Given the description of an element on the screen output the (x, y) to click on. 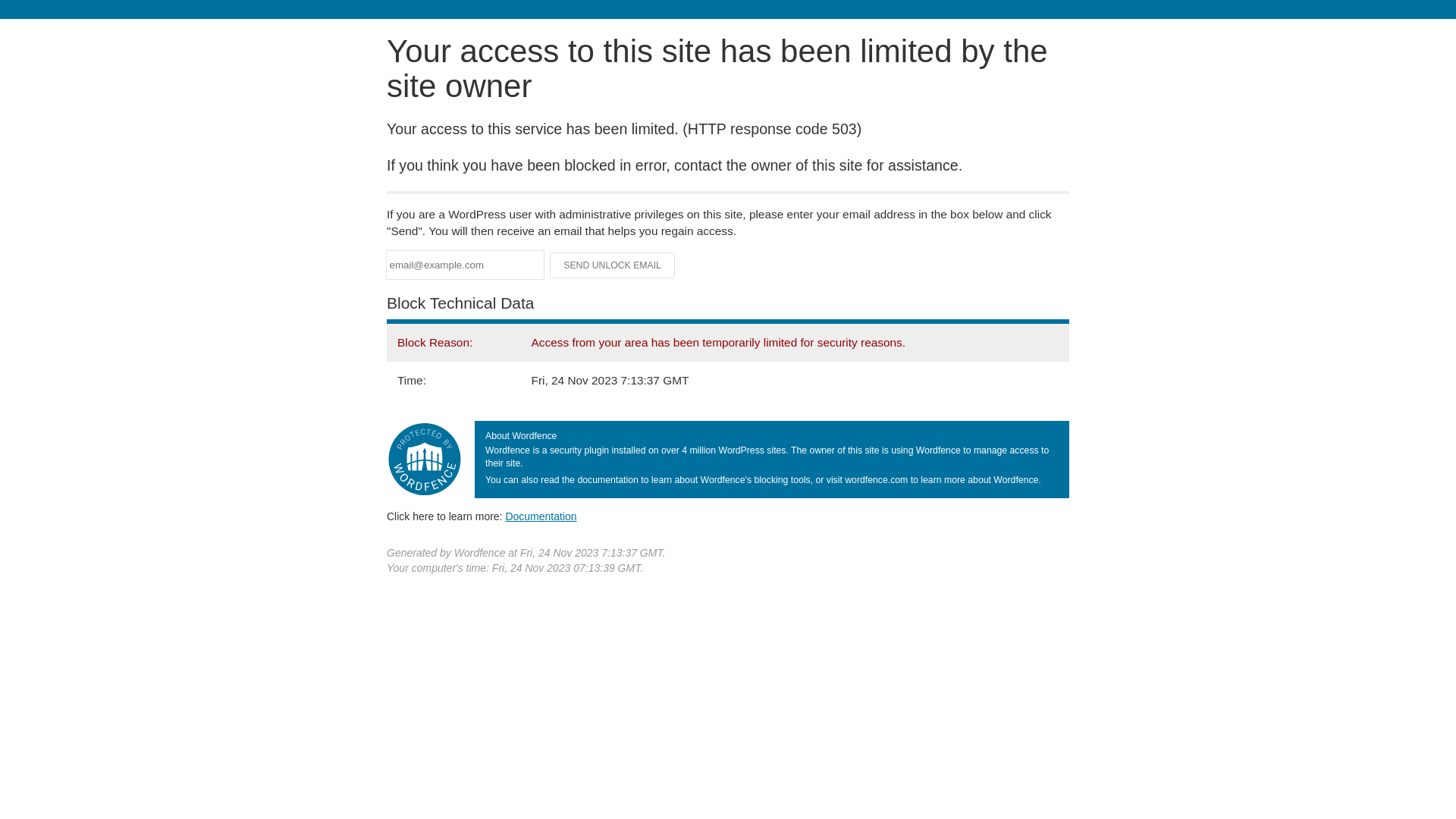
Documentation Element type: text (540, 516)
Send Unlock Email Element type: text (612, 265)
